Given the description of an element on the screen output the (x, y) to click on. 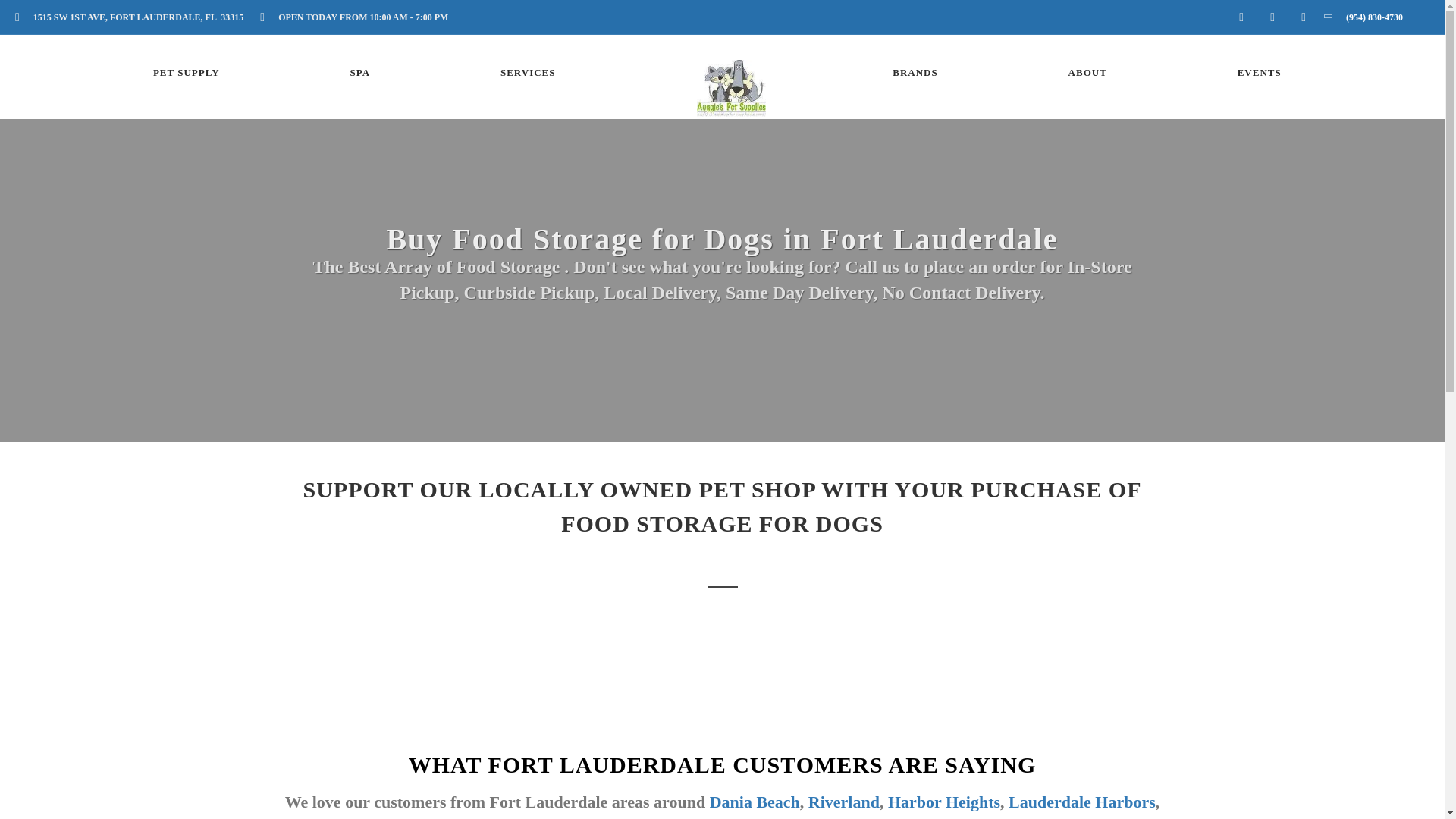
Auggie's Pet Supplies Pet Supply Near Fort Lauderdale (186, 72)
OPEN TODAY FROM 10:00 AM - 7:00 PM (358, 16)
PET SUPPLY (186, 72)
1515 SW 1ST AVE, FORT LAUDERDALE, FL  33315 (133, 16)
